Given the description of an element on the screen output the (x, y) to click on. 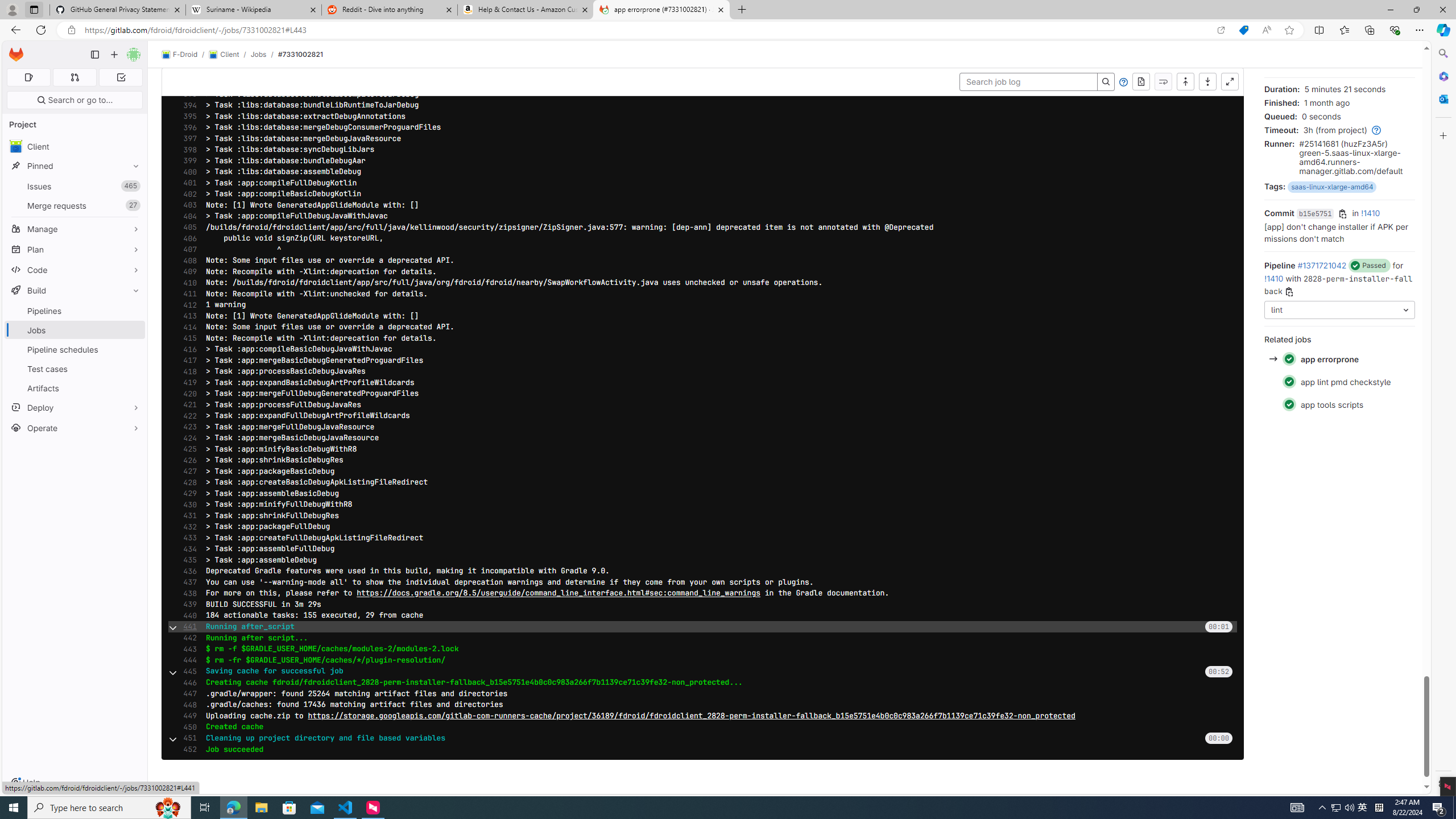
Unpin Merge requests (132, 205)
404 (186, 216)
F-Droid (179, 54)
Merge requests27 (74, 205)
Show full screen (1230, 81)
432 (186, 526)
Pin Pipelines (132, 310)
Open in app (1220, 29)
422 (186, 415)
402 (186, 193)
To-Do list 0 (120, 76)
407 (186, 249)
Code (74, 269)
